Given the description of an element on the screen output the (x, y) to click on. 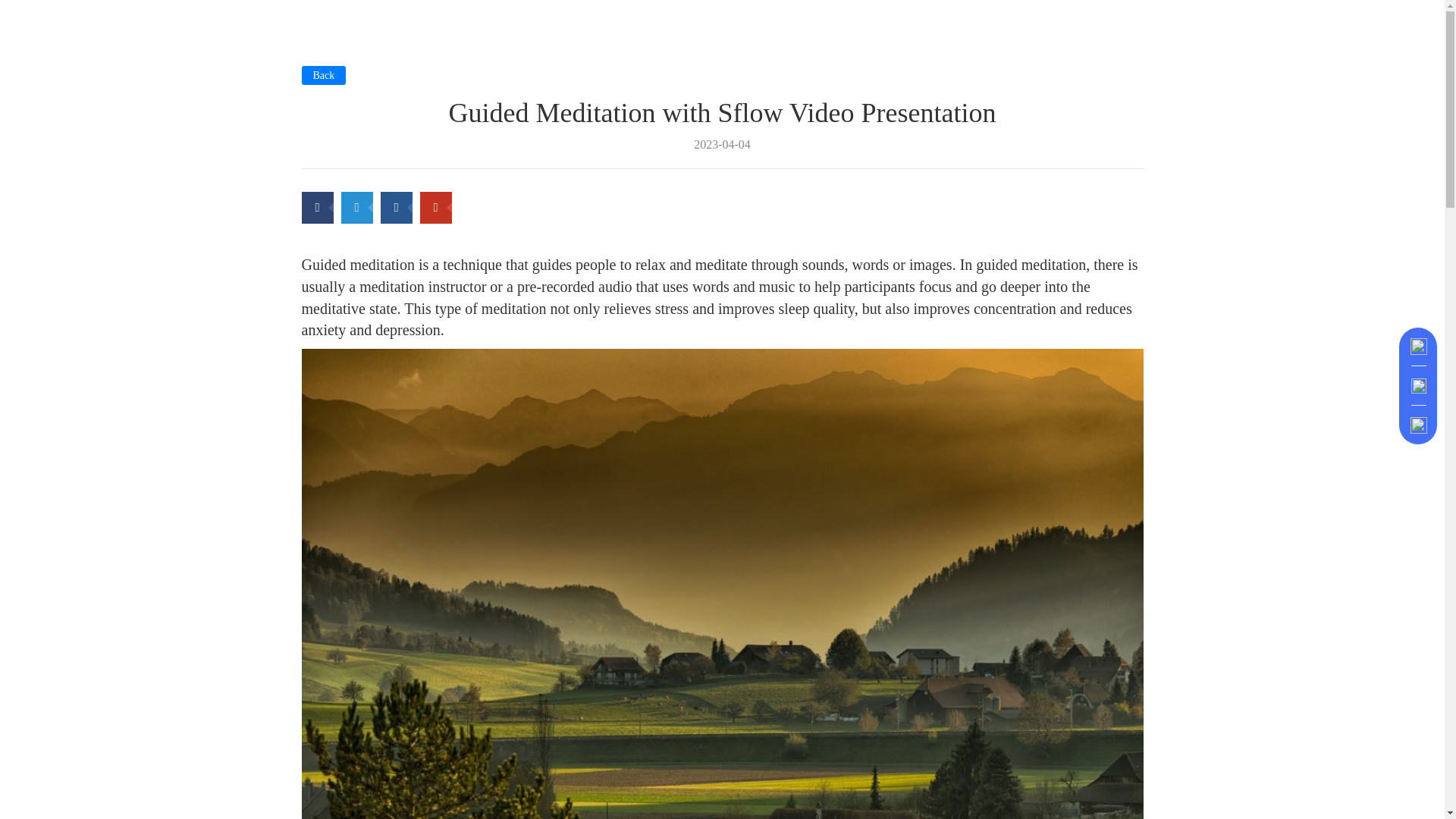
email (1418, 346)
chatAI (1418, 385)
phone (1418, 425)
Back (323, 75)
